Given the description of an element on the screen output the (x, y) to click on. 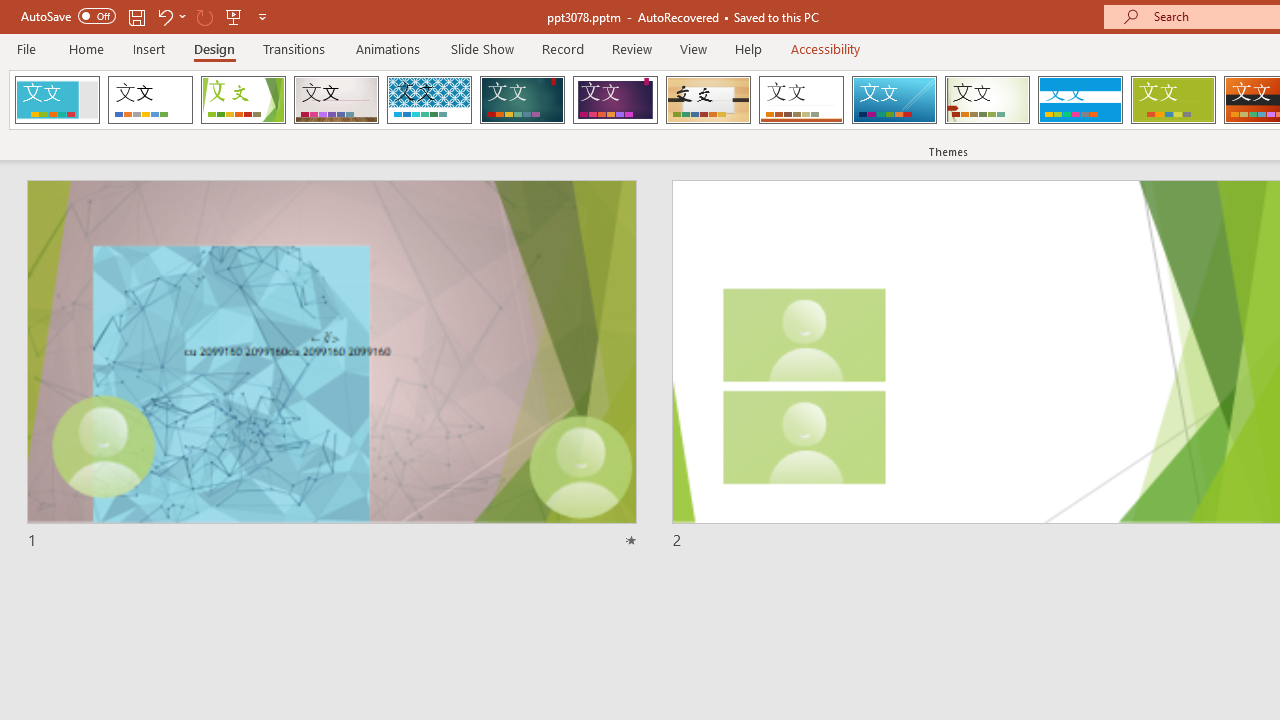
Office Theme (150, 100)
Wisp (987, 100)
Integral (429, 100)
Gallery (336, 100)
Retrospect (801, 100)
